Given the description of an element on the screen output the (x, y) to click on. 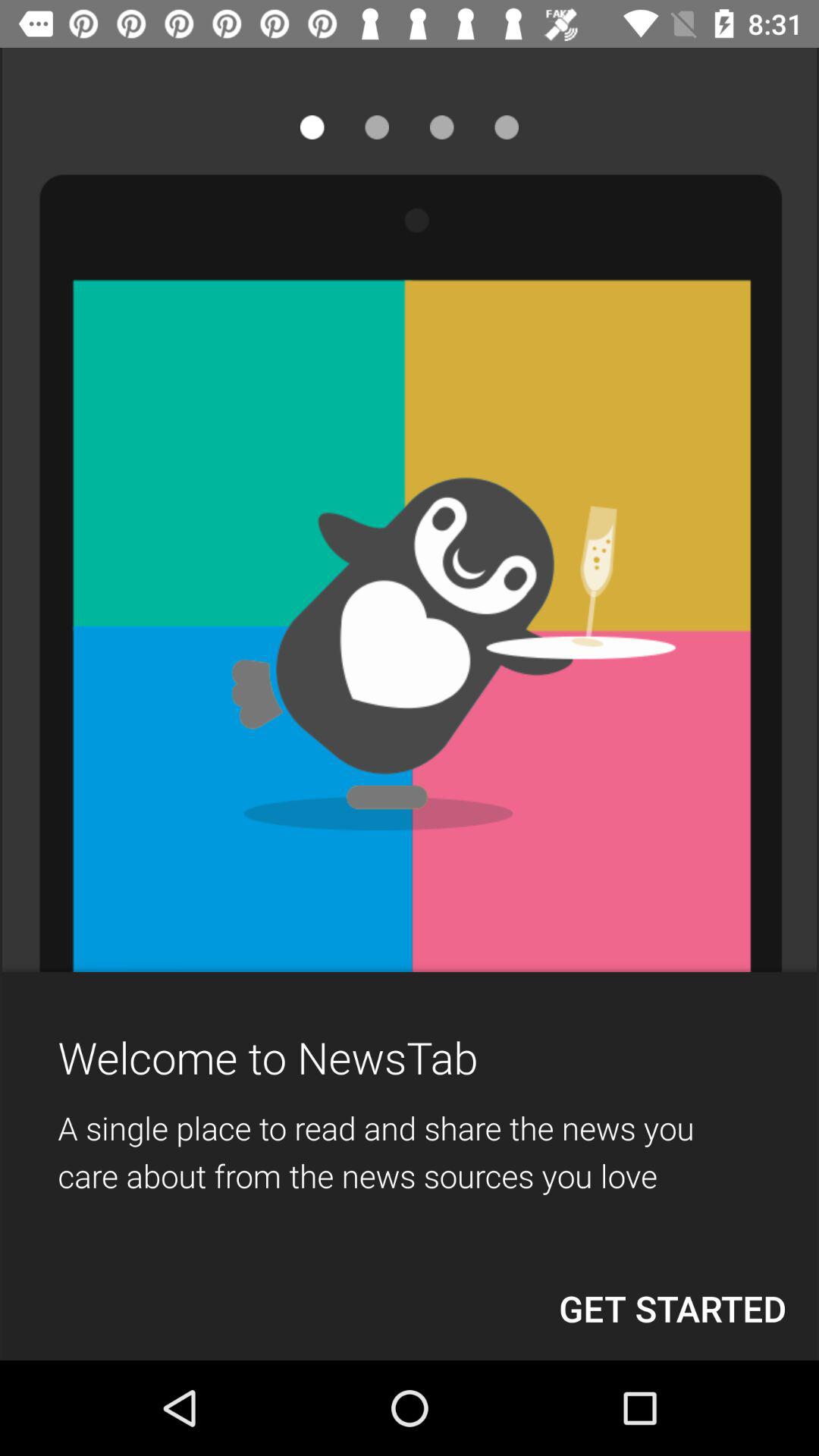
tap icon at the bottom right corner (672, 1308)
